Given the description of an element on the screen output the (x, y) to click on. 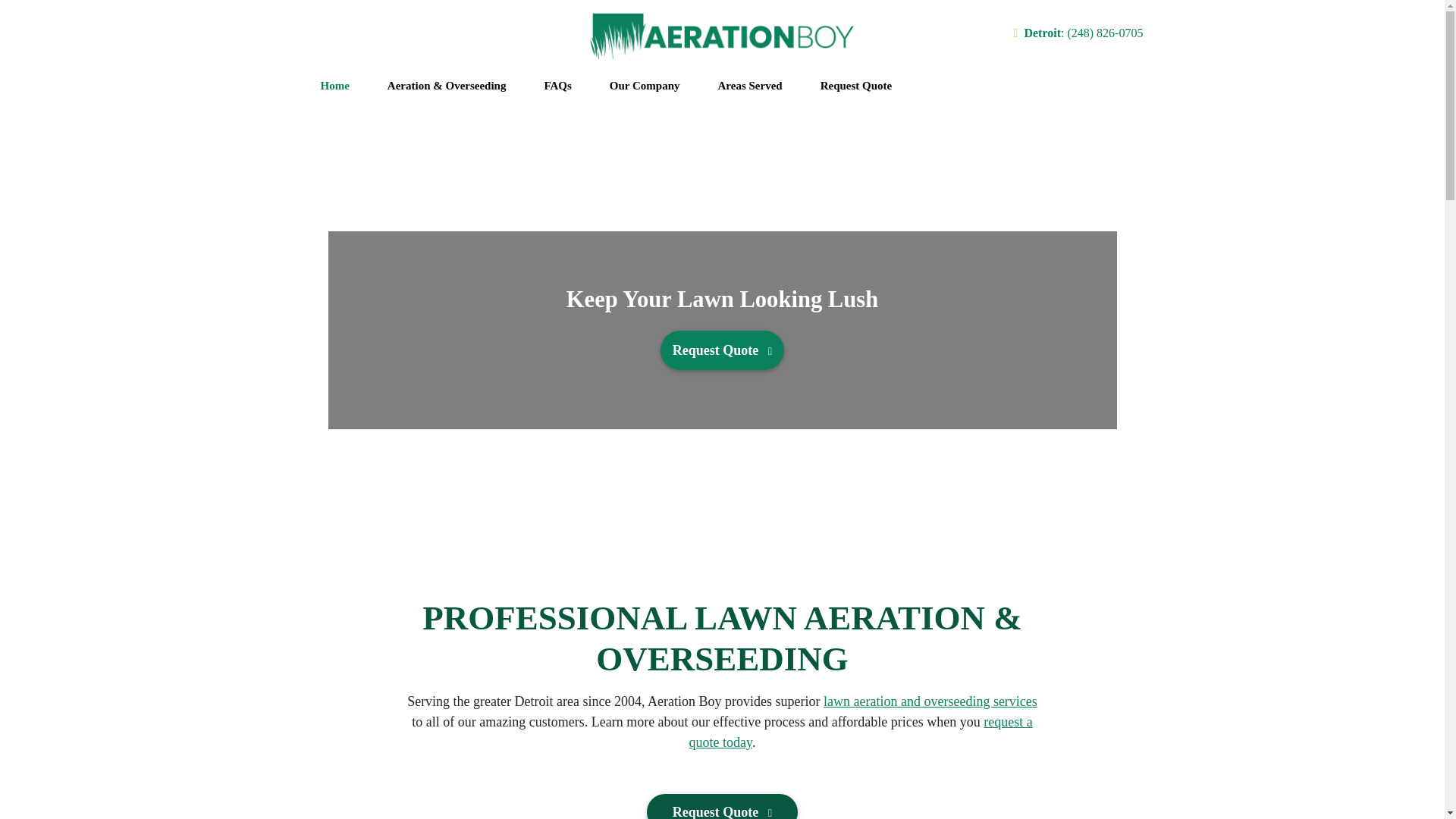
Our Company (644, 87)
Request Quote (856, 87)
Request Quote (722, 350)
request a quote today (860, 732)
lawn aeration and overseeding services (930, 701)
FAQs (557, 87)
Areas Served (749, 87)
Home (334, 87)
Request Quote (721, 806)
